Given the description of an element on the screen output the (x, y) to click on. 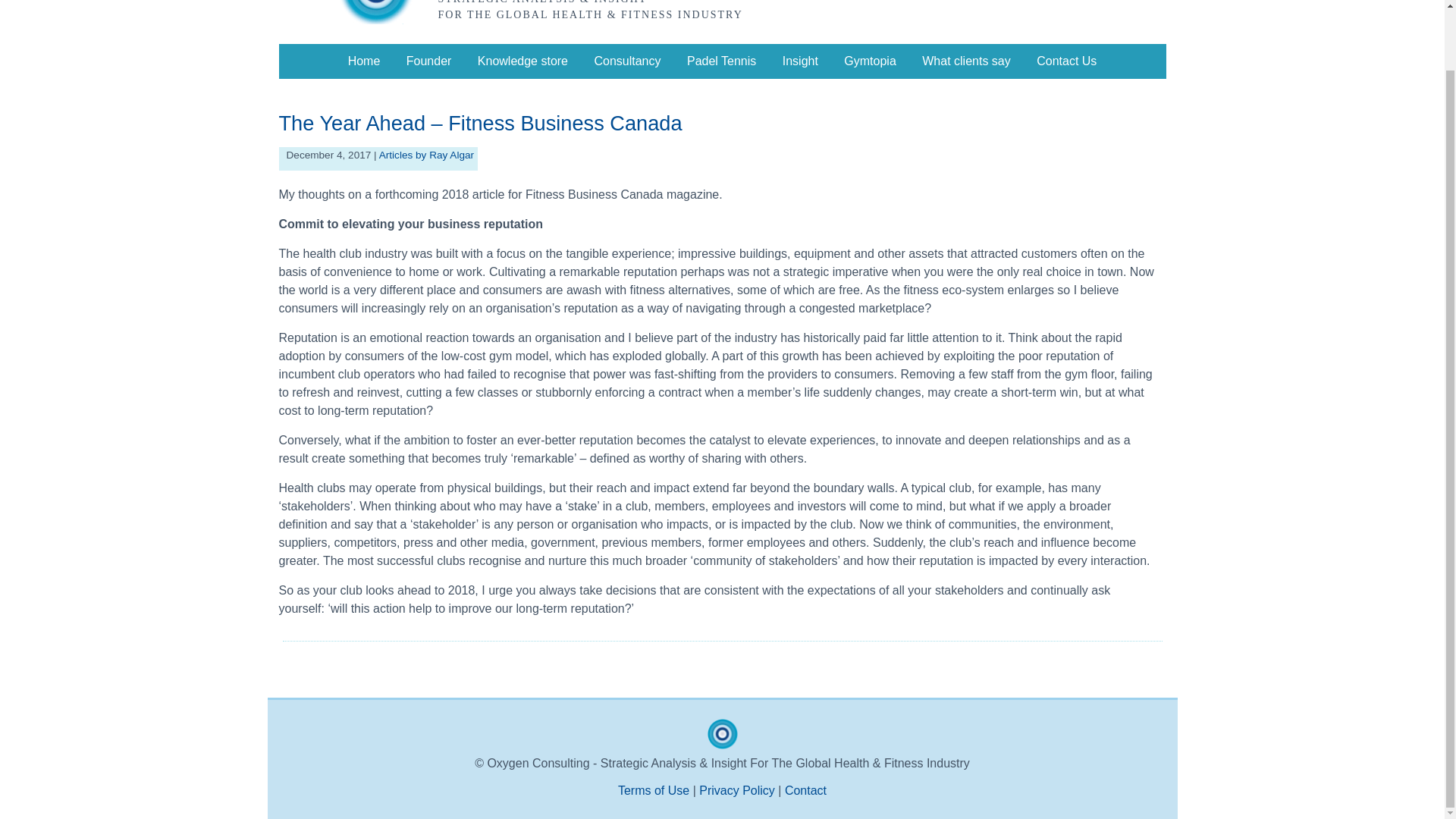
Insight (800, 61)
Padel Tennis (721, 61)
Contact (805, 789)
Terms of Use (652, 789)
Home (363, 61)
Privacy Policy (736, 789)
Knowledge store (522, 61)
Articles by Ray Algar (426, 154)
What clients say (965, 61)
Consultancy (627, 61)
Founder (428, 61)
Contact Us (1066, 61)
Gymtopia (869, 61)
